Given the description of an element on the screen output the (x, y) to click on. 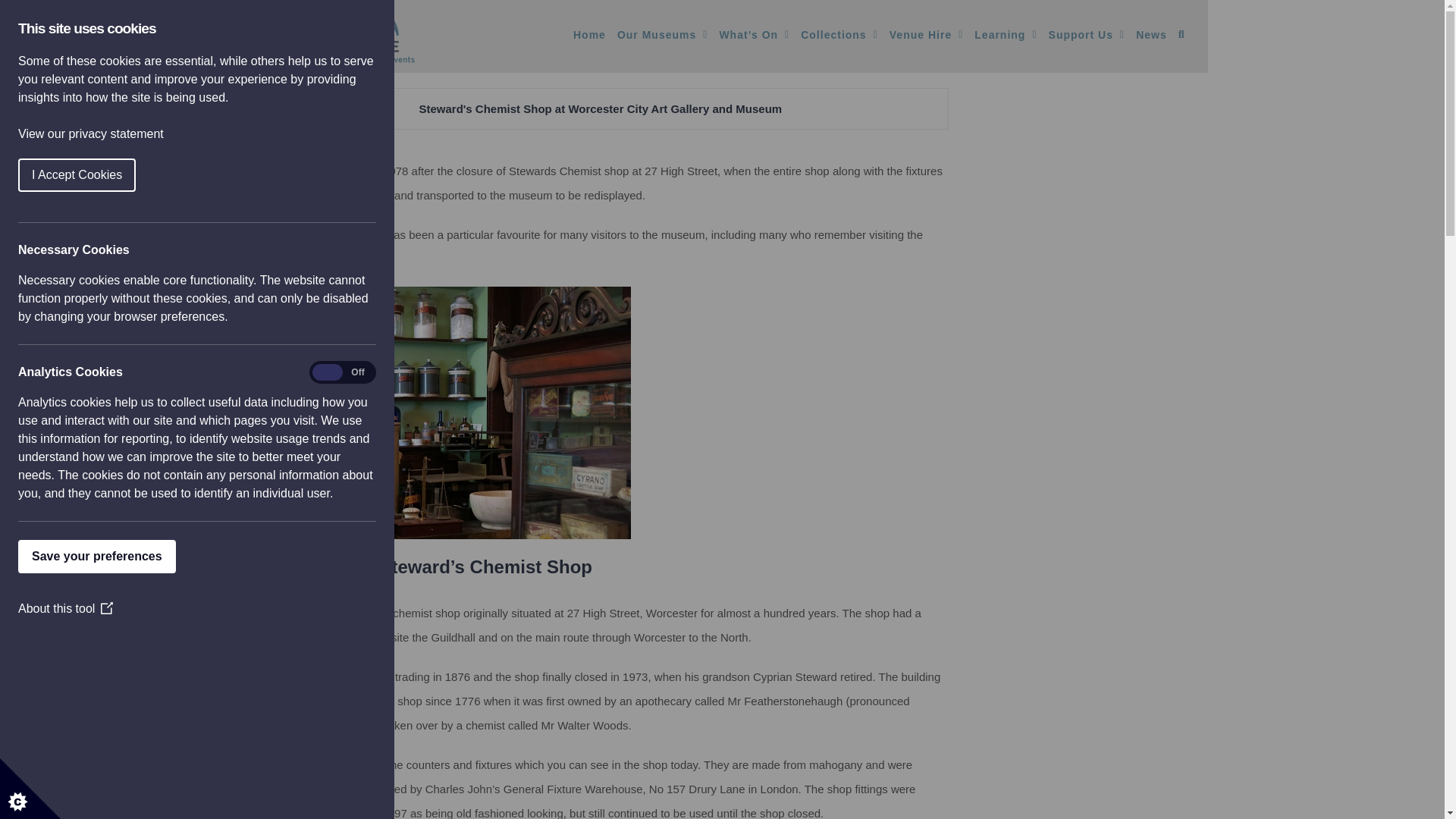
Our Museums (662, 34)
Collections (838, 34)
